Given the description of an element on the screen output the (x, y) to click on. 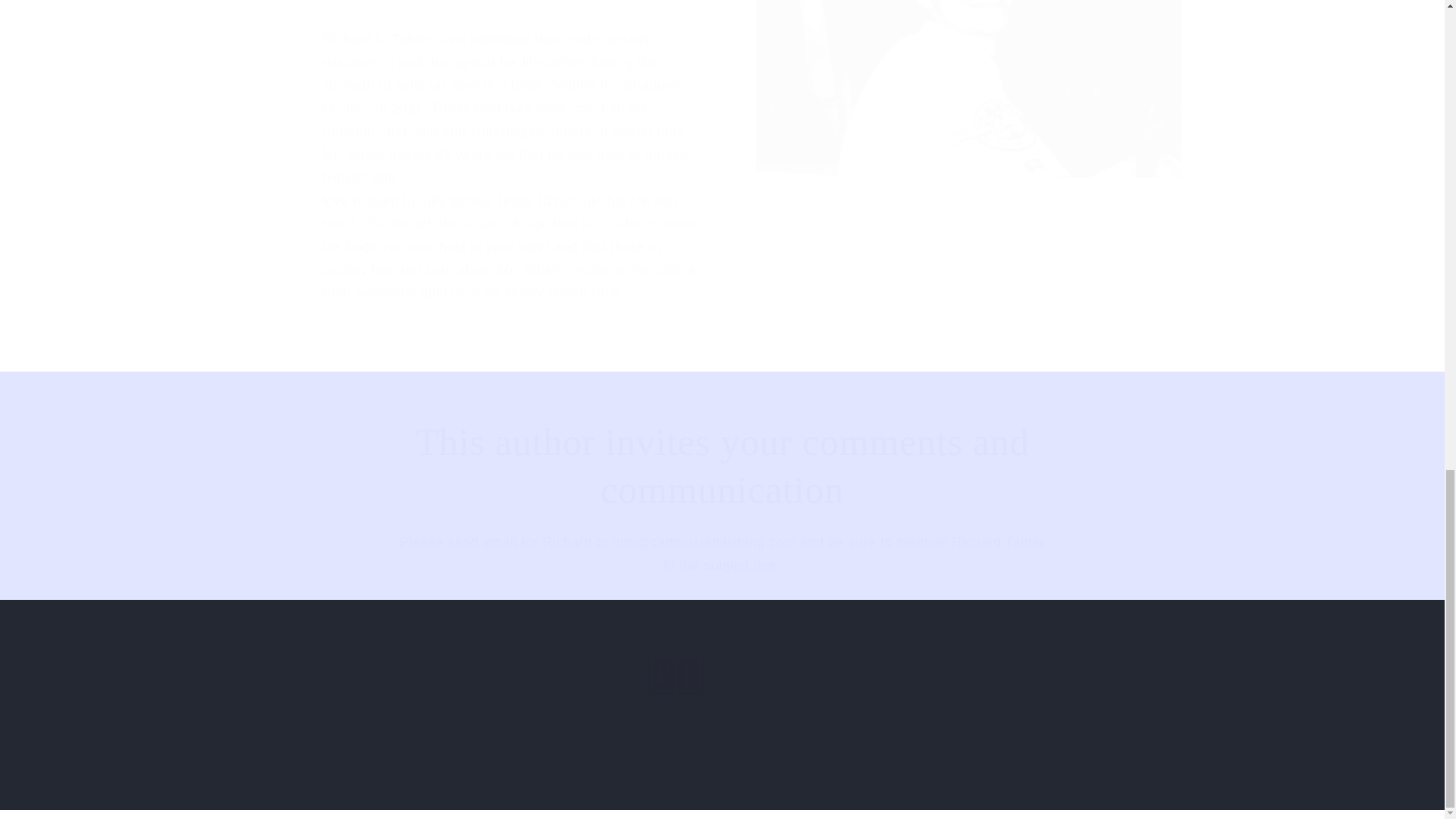
Facebook (721, 800)
This author invites your comments and communication (722, 466)
